Given the description of an element on the screen output the (x, y) to click on. 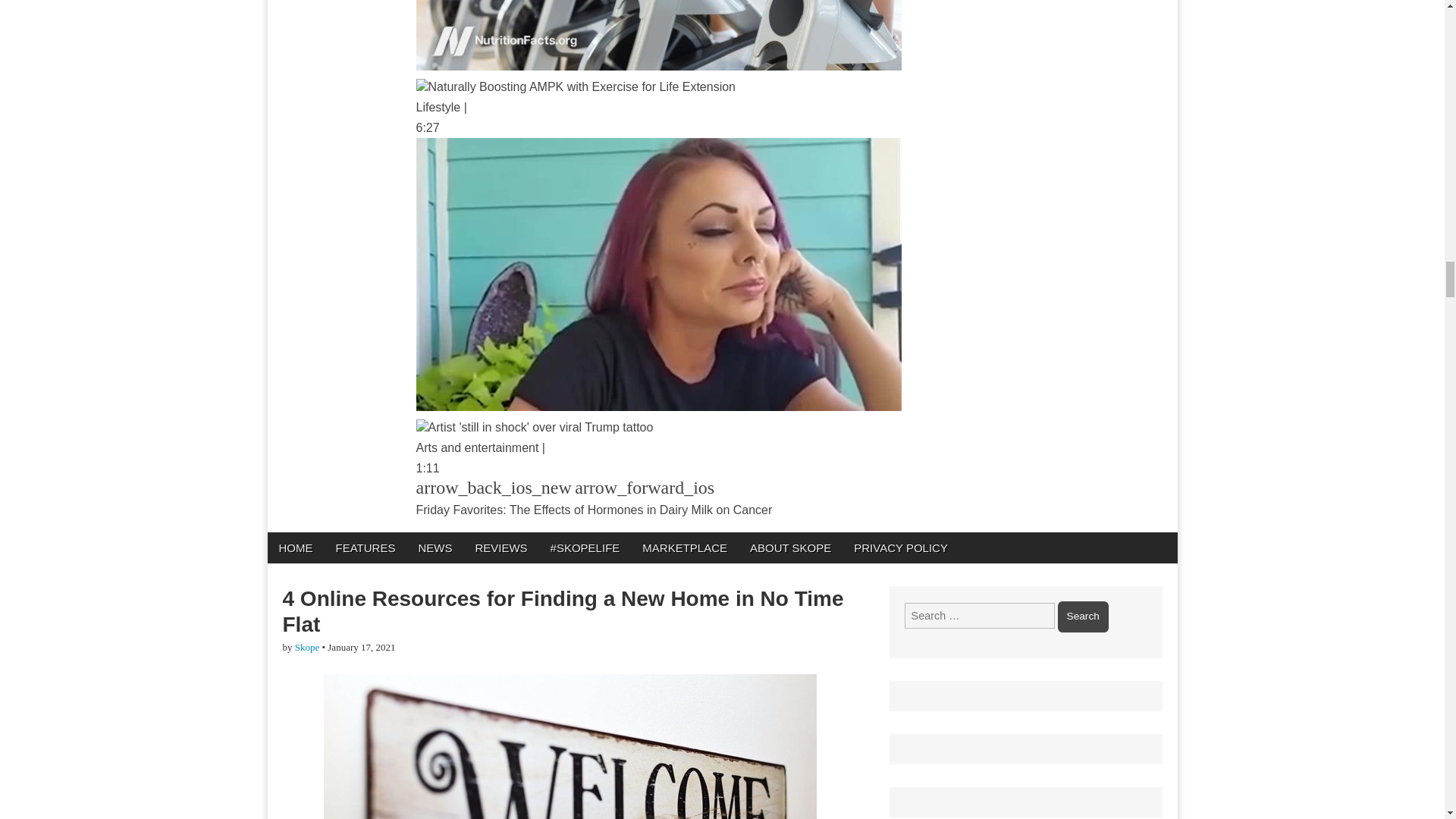
FEATURES (365, 547)
REVIEWS (500, 547)
Search (1083, 616)
Posts by Skope (307, 646)
HOME (294, 547)
Skope (307, 646)
MARKETPLACE (684, 547)
NEWS (434, 547)
PRIVACY POLICY (901, 547)
Search (1083, 616)
Search (1083, 616)
ABOUT SKOPE (790, 547)
